Given the description of an element on the screen output the (x, y) to click on. 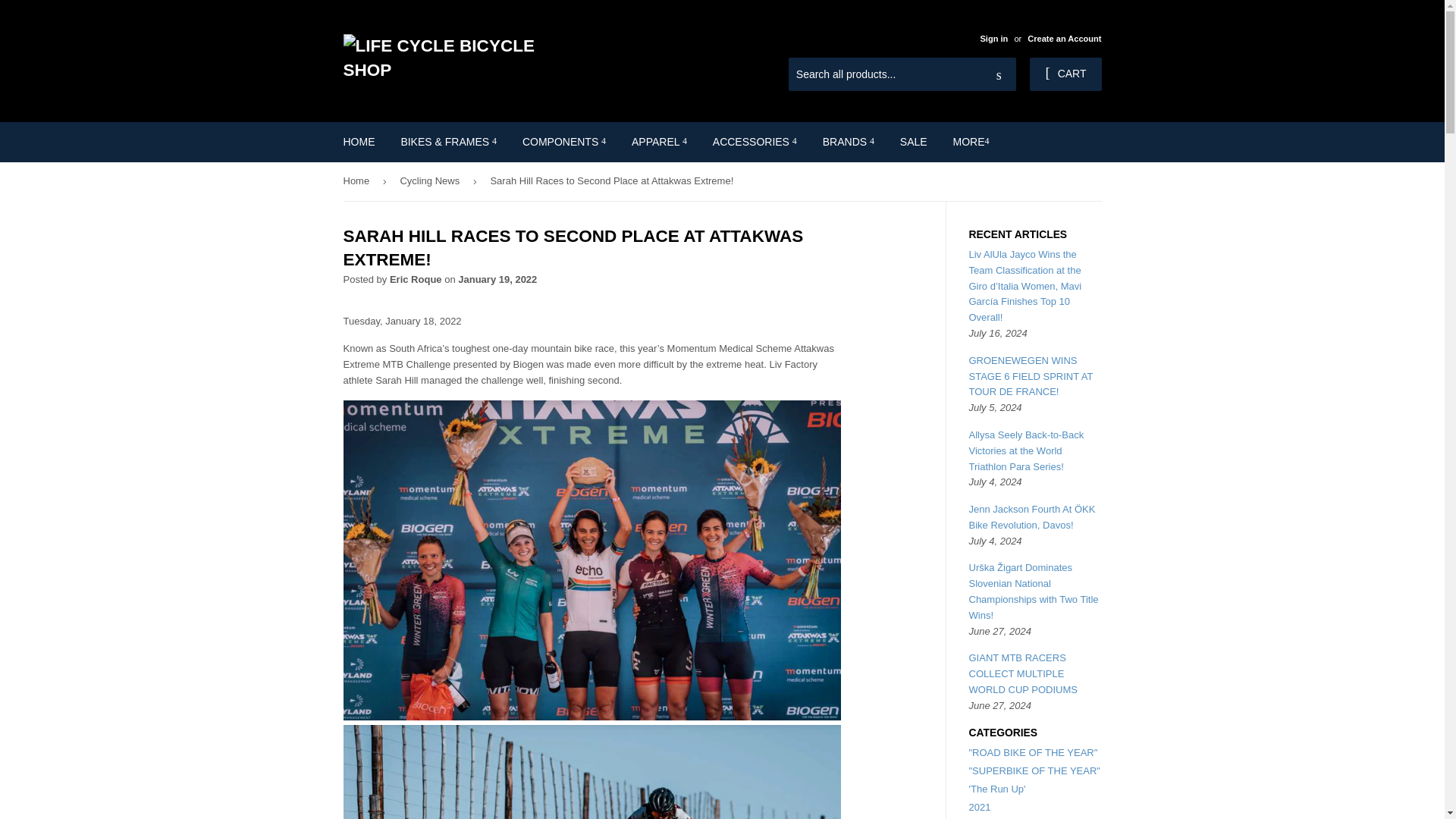
Create an Account (1063, 38)
Show articles tagged 'The Run Up' (997, 788)
Show articles tagged "SUPERBIKE OF THE YEAR" (1034, 770)
CART (1064, 73)
Show articles tagged "ROAD BIKE OF THE YEAR" (1033, 752)
Sign in (993, 38)
Search (998, 74)
Show articles tagged 2021 (980, 807)
